Given the description of an element on the screen output the (x, y) to click on. 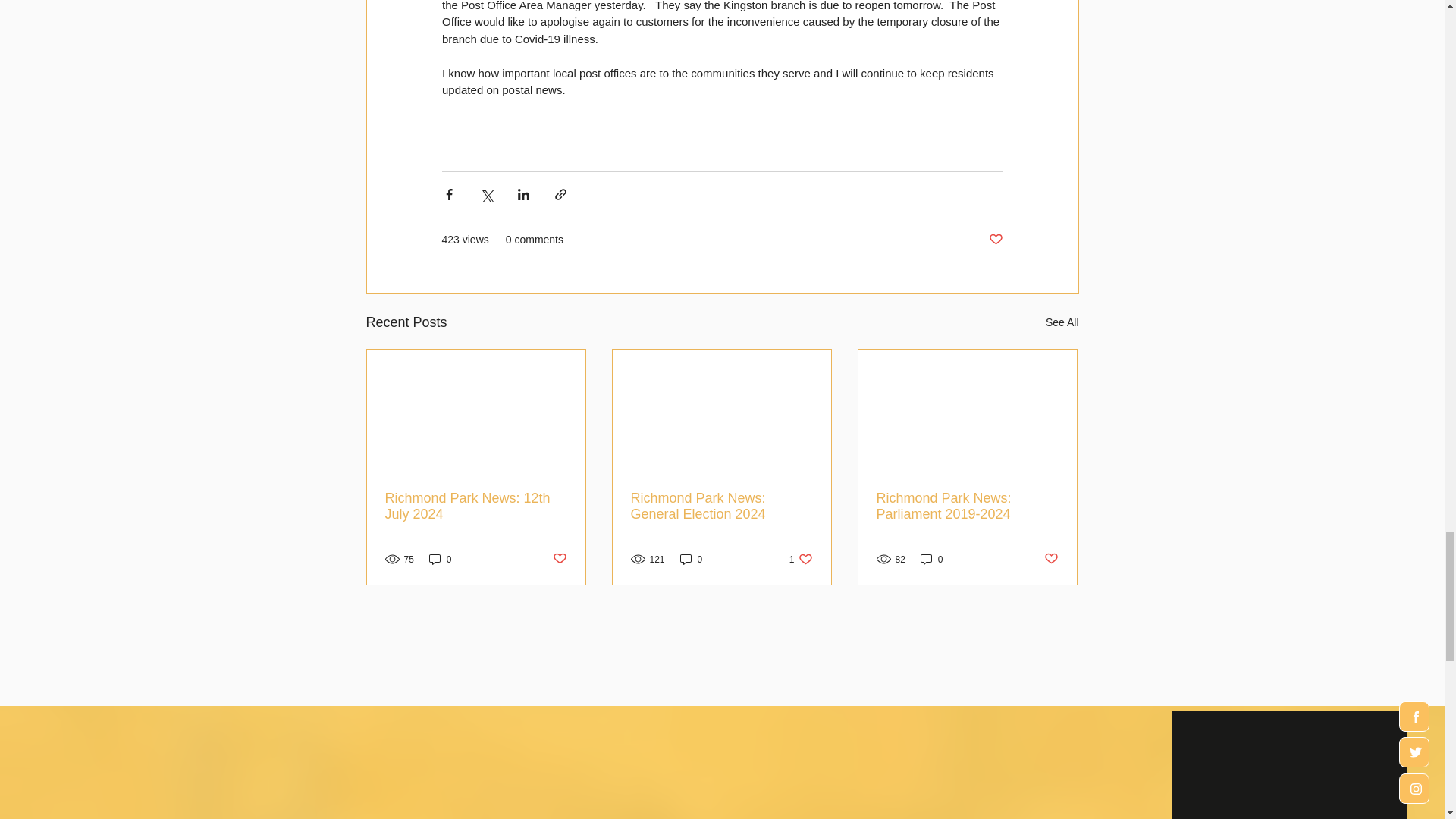
Post not marked as liked (995, 239)
0 (440, 559)
Post not marked as liked (558, 559)
See All (1061, 321)
Richmond Park News: 12th July 2024 (476, 505)
